Given the description of an element on the screen output the (x, y) to click on. 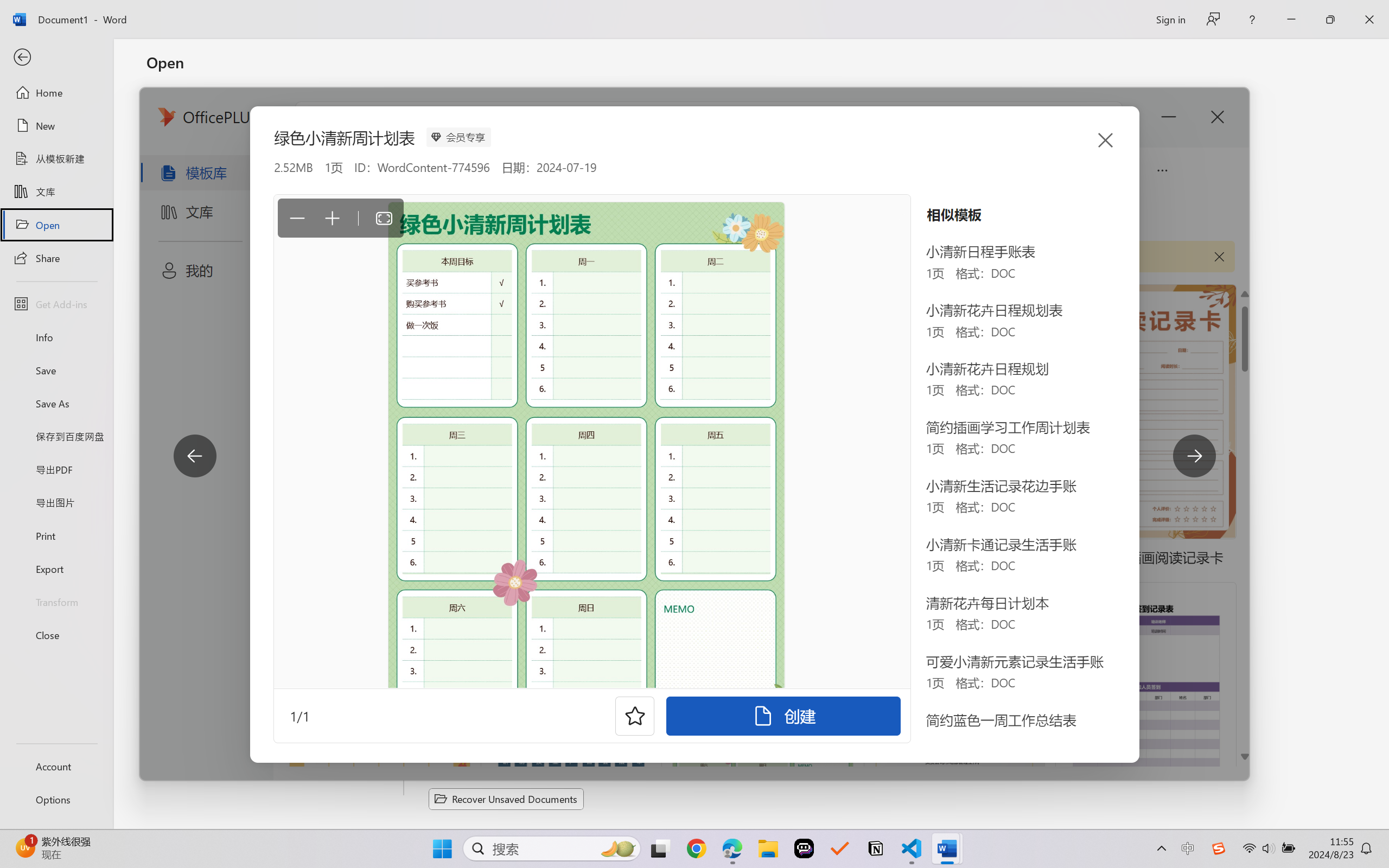
This PC (275, 249)
Transform (56, 601)
Back (56, 57)
Shared with Me (275, 153)
Print (56, 535)
Export (56, 568)
Folders (534, 134)
Sign in (1170, 18)
Info (56, 337)
